Given the description of an element on the screen output the (x, y) to click on. 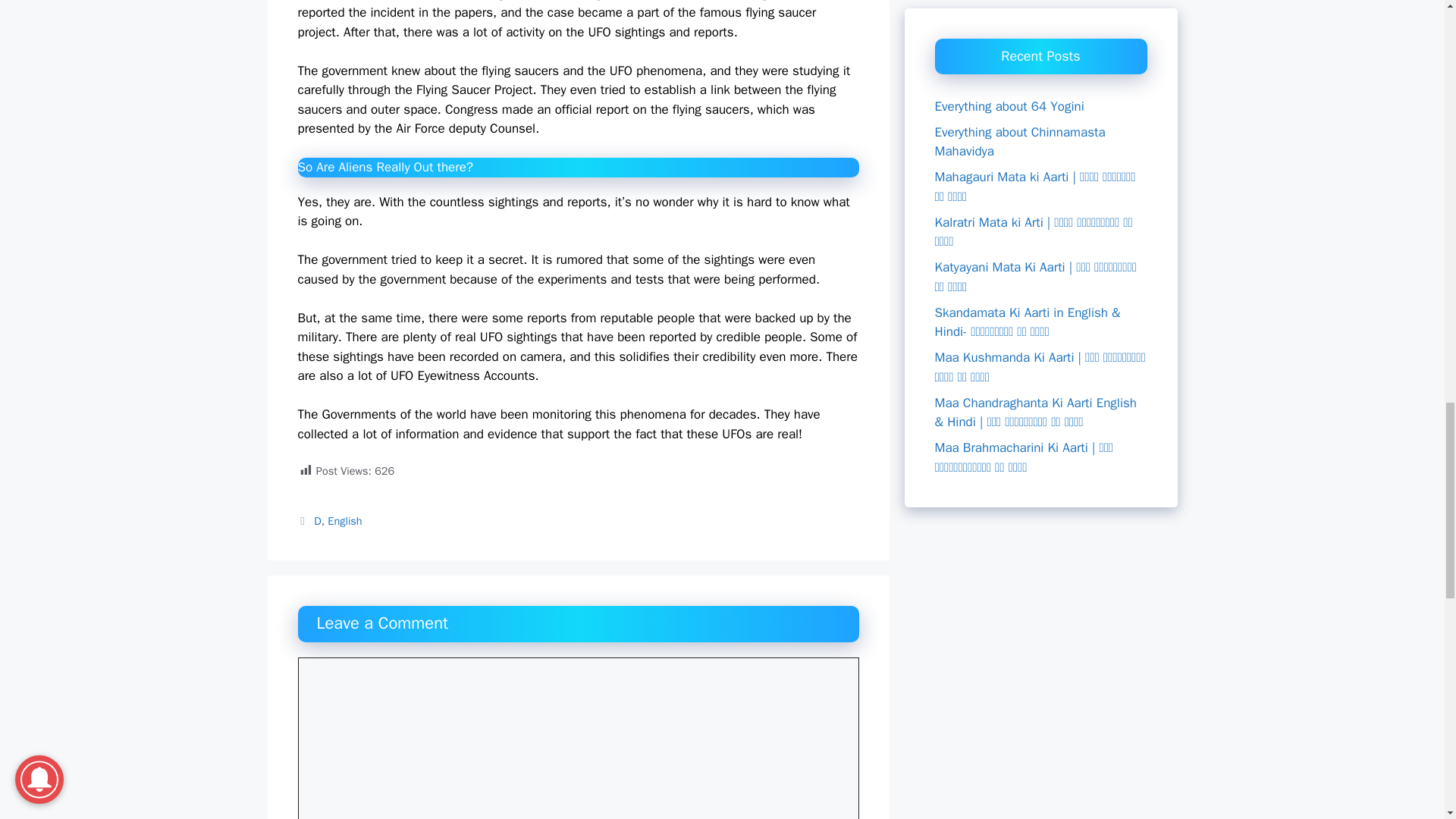
English (344, 520)
